Given the description of an element on the screen output the (x, y) to click on. 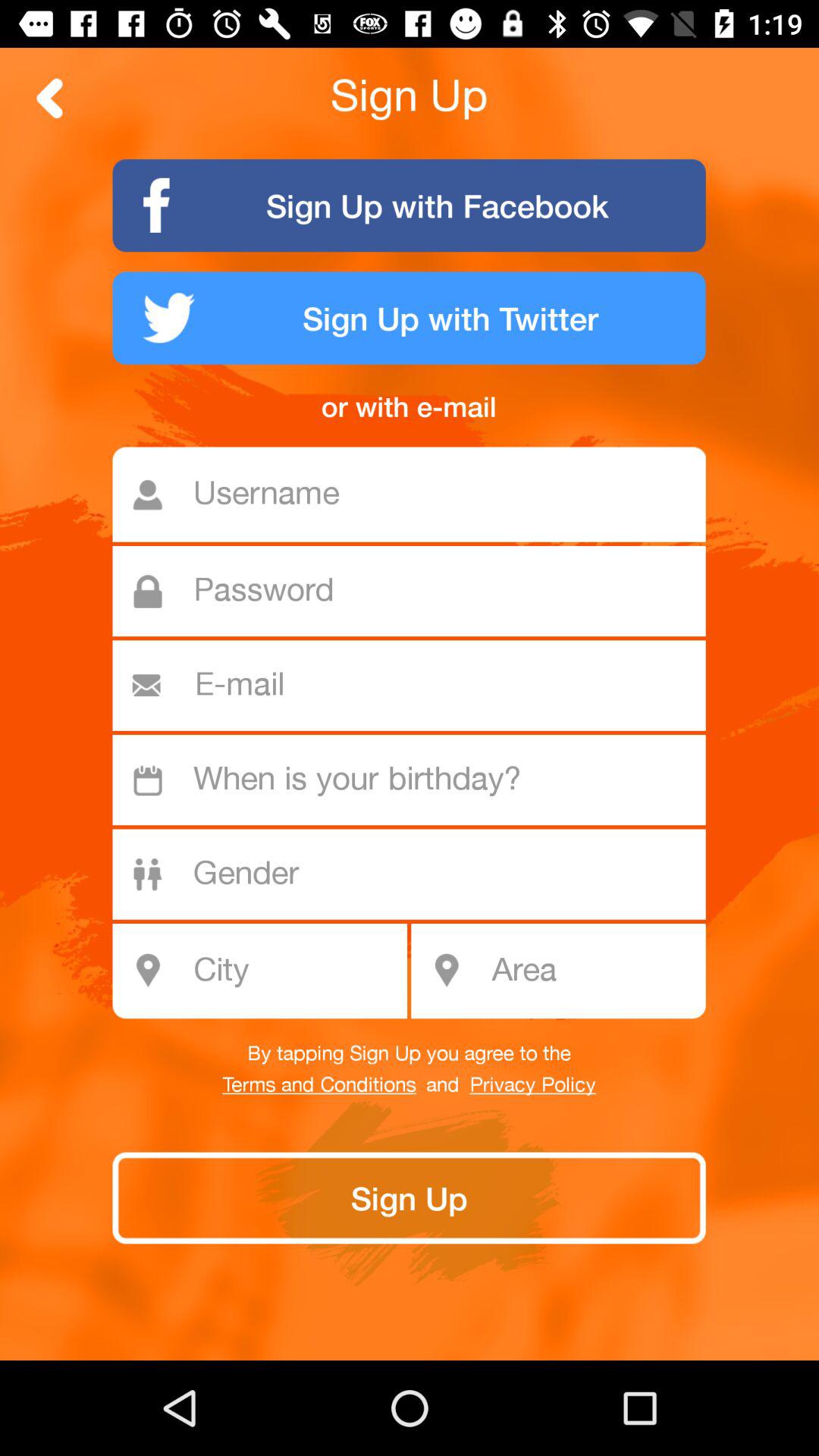
type username (417, 494)
